Given the description of an element on the screen output the (x, y) to click on. 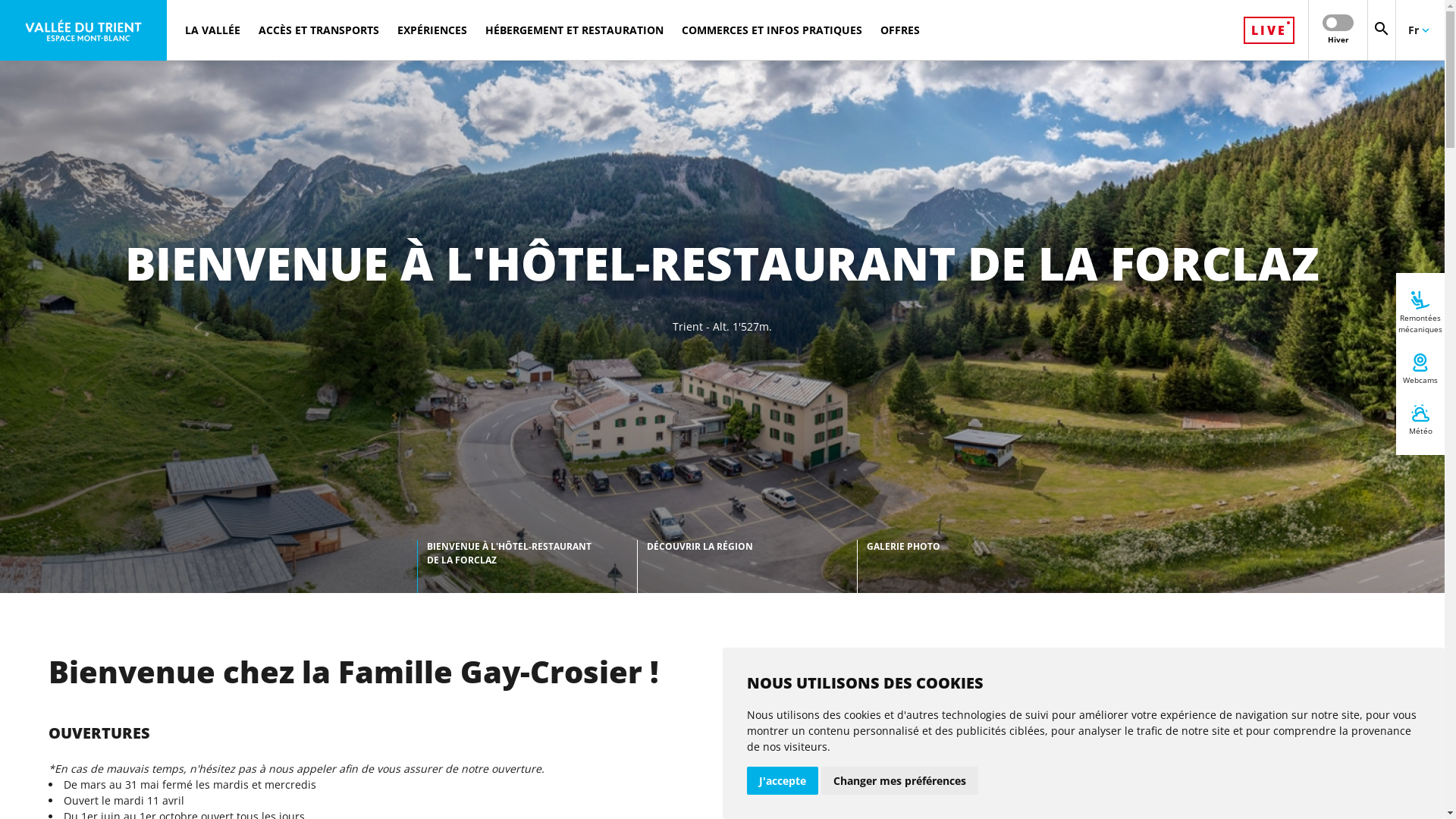
Webcams Element type: text (1420, 369)
search Element type: text (1382, 29)
LIVE Element type: text (1269, 29)
Fr
keyboard_arrow_down Element type: text (1420, 30)
J'accepte Element type: text (781, 780)
